Given the description of an element on the screen output the (x, y) to click on. 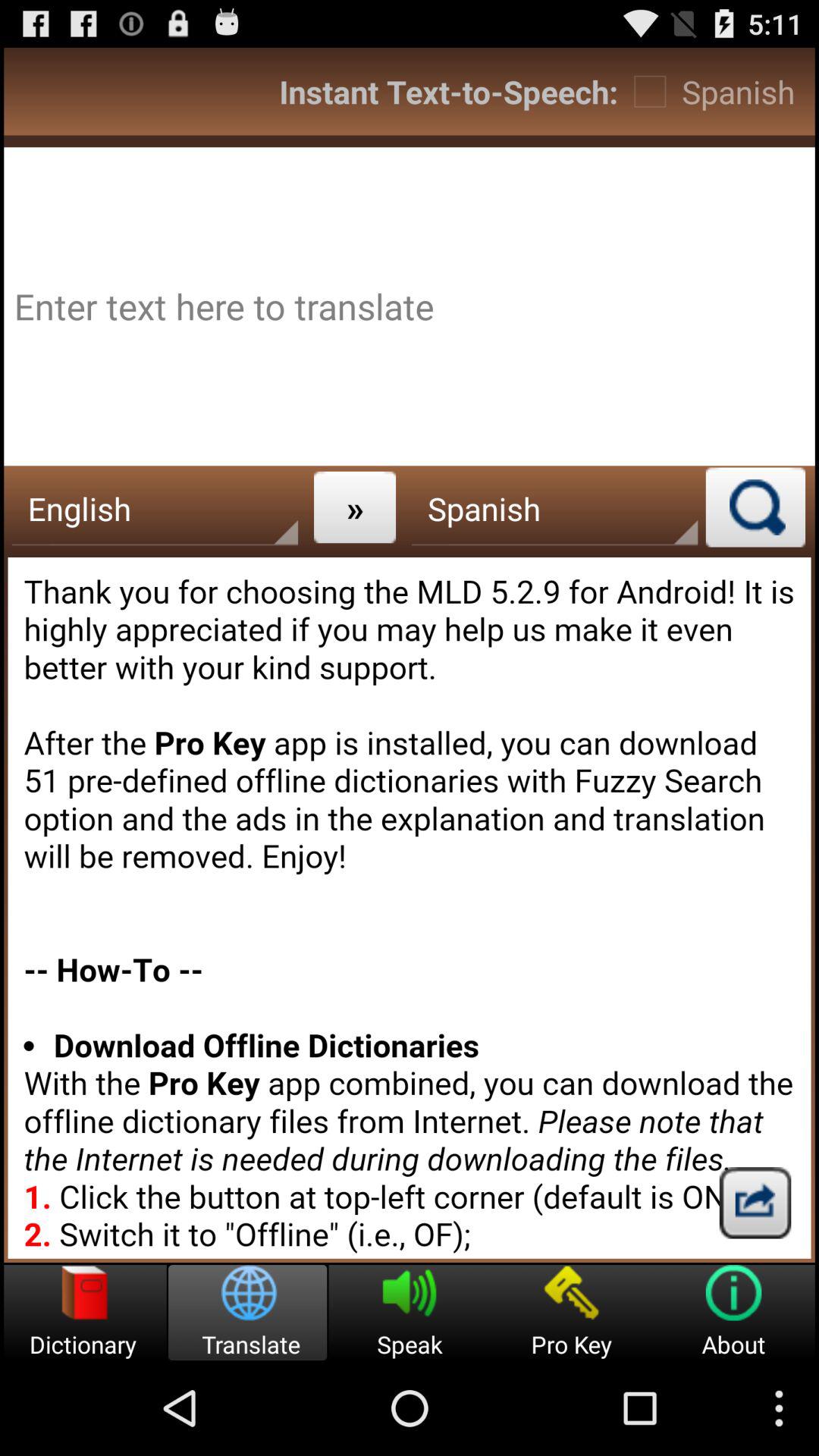
go to button (755, 1202)
